Given the description of an element on the screen output the (x, y) to click on. 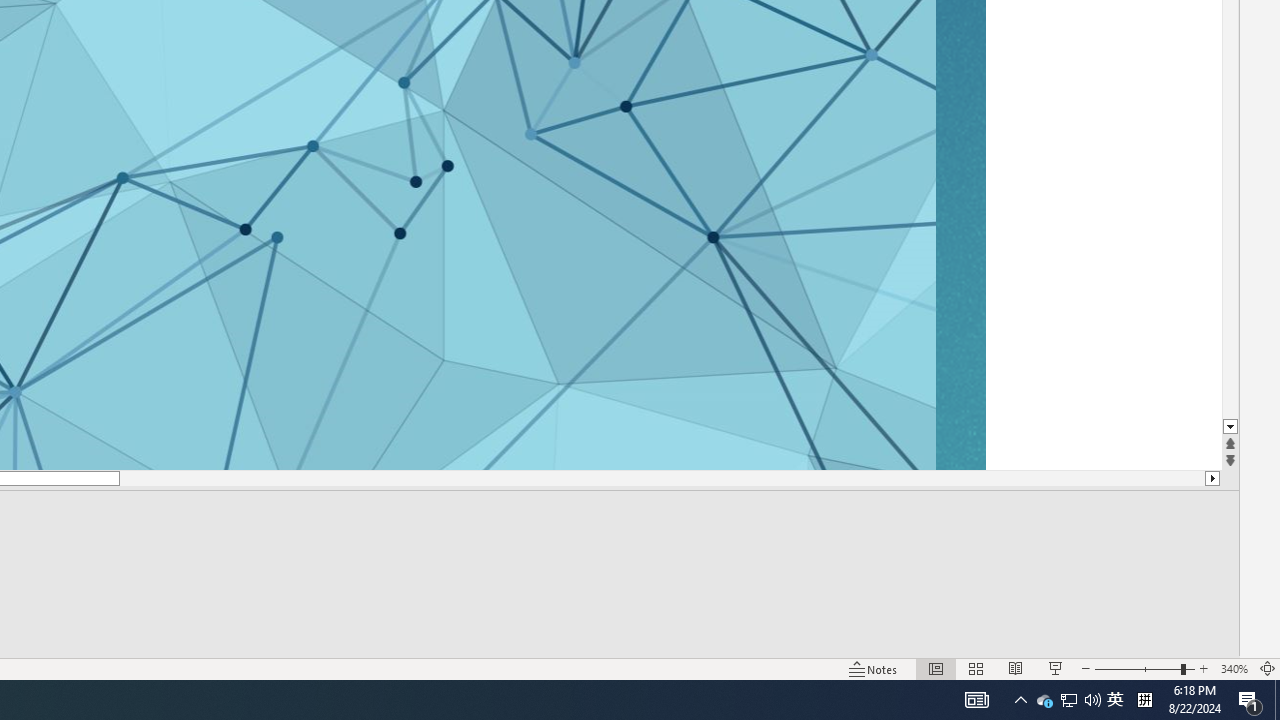
Zoom 340% (1234, 668)
